Given the description of an element on the screen output the (x, y) to click on. 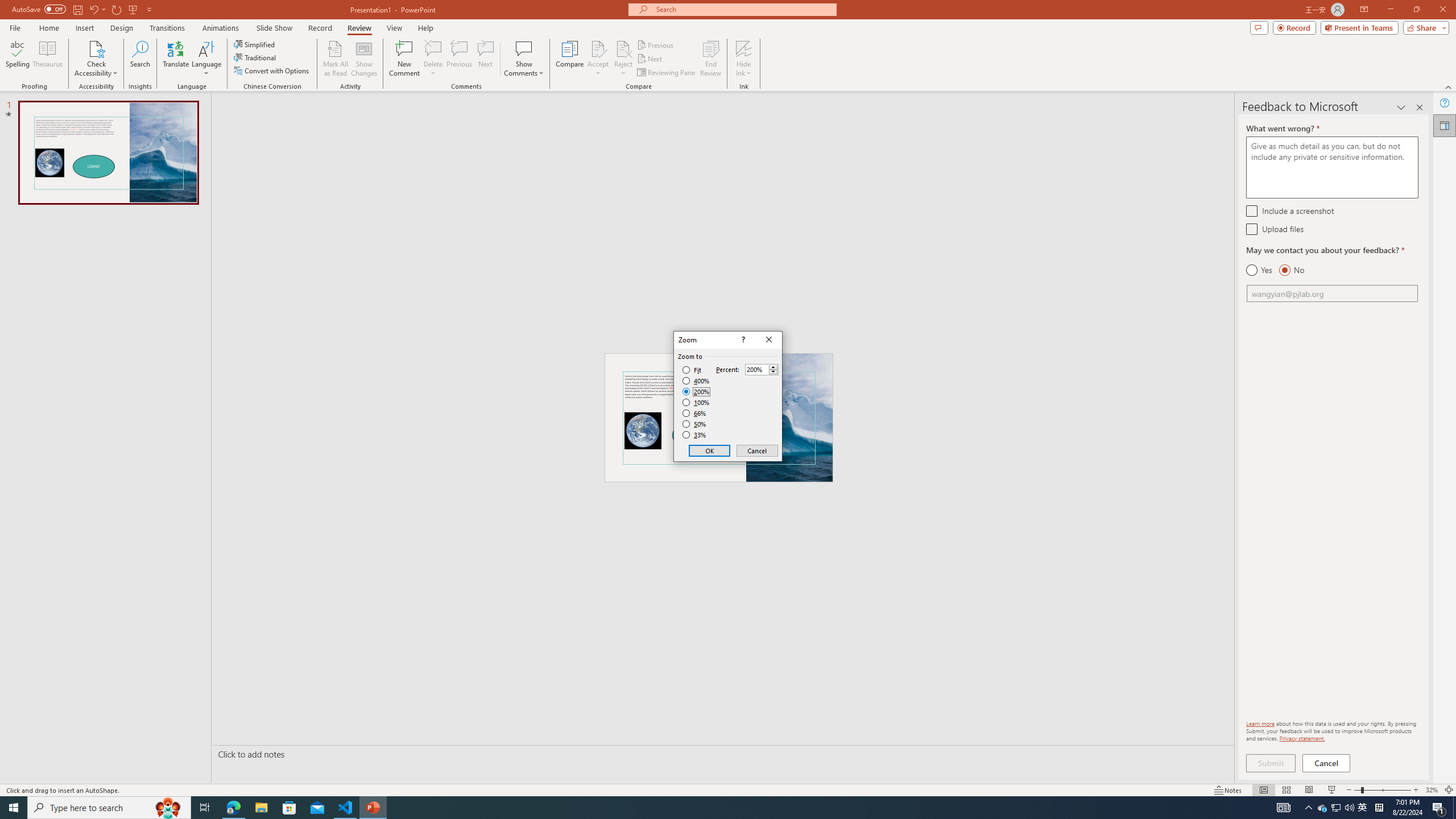
400% (696, 380)
Zoom 32% (1431, 790)
